Given the description of an element on the screen output the (x, y) to click on. 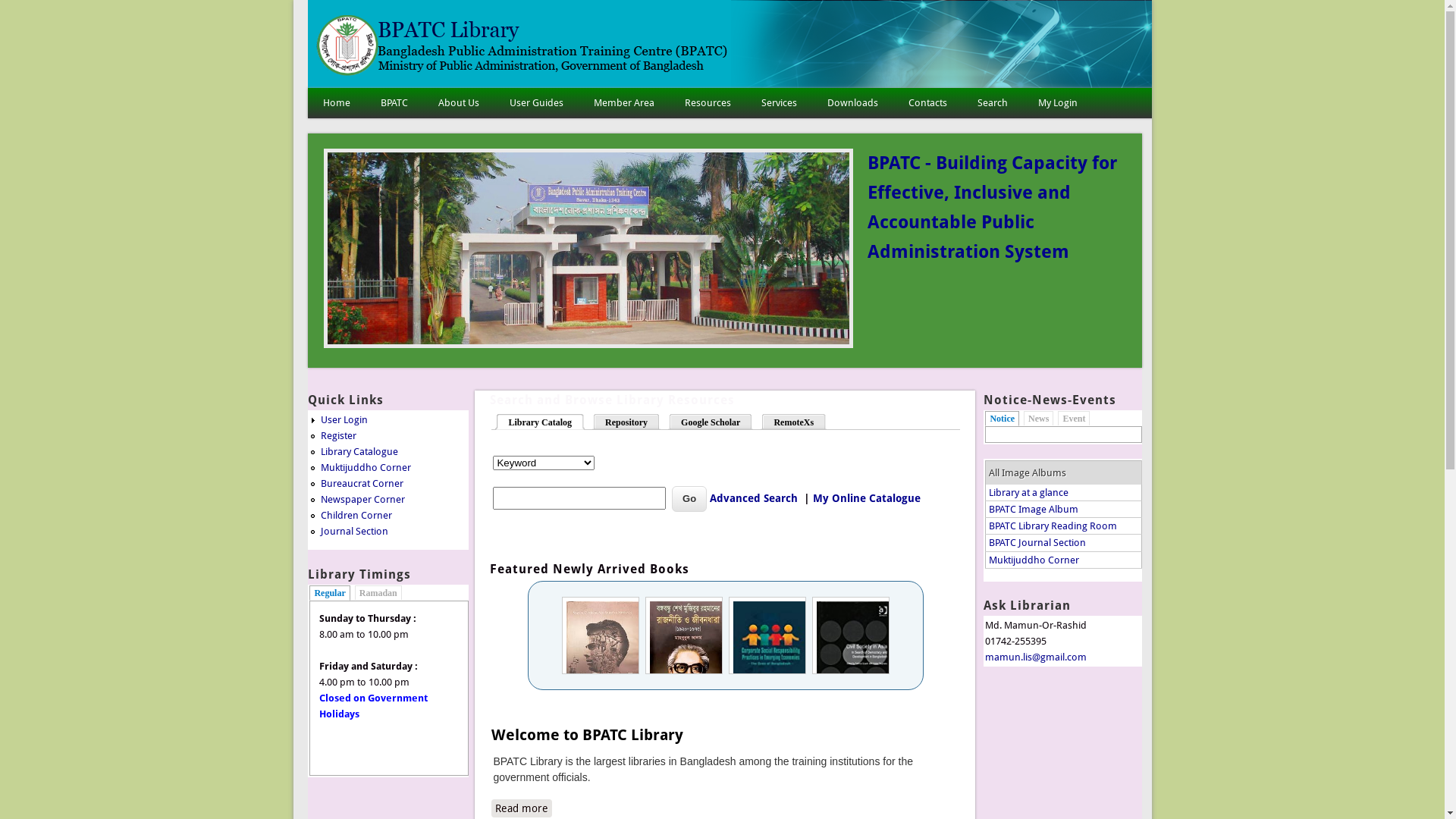
Muktijuddho Corner Element type: text (365, 467)
BPATC Journal Section Element type: text (1036, 542)
Muktijuddho Corner Element type: text (1033, 559)
Member Area Element type: text (623, 102)
mamun.lis@gmail.com Element type: text (1035, 656)
Repository Element type: text (628, 420)
RemoteXs Element type: text (795, 420)
Library at a glance Element type: text (1028, 492)
Downloads Element type: text (852, 102)
Library Catalogue Element type: text (359, 451)
Resources Element type: text (707, 102)
Services Element type: text (779, 102)
Journal Section Element type: text (354, 530)
Search Element type: text (992, 102)
Read more
about Welcome to BPATC Library Element type: text (521, 808)
About Us Element type: text (458, 102)
Newspaper Corner Element type: text (362, 499)
Regular Element type: text (329, 592)
Register Element type: text (338, 435)
Notice Element type: text (1001, 418)
Contacts Element type: text (927, 102)
Children Corner Element type: text (356, 514)
Google Scholar Element type: text (712, 420)
Home Element type: hover (523, 72)
User Login Element type: text (343, 419)
Home Element type: text (336, 102)
BPATC Element type: text (394, 102)
My Online Catalogue Element type: text (866, 498)
Library Catalog Element type: text (541, 420)
Go Element type: text (688, 498)
Ramadan Element type: text (378, 592)
News Element type: text (1038, 418)
Event Element type: text (1073, 418)
Welcome to BPATC Library Element type: text (587, 734)
My Login Element type: text (1057, 102)
Bureaucrat Corner Element type: text (361, 483)
BPATC Library Reading Room Element type: text (1052, 525)
User Guides Element type: text (536, 102)
Advanced Search Element type: text (751, 498)
BPATC Image Album Element type: text (1033, 508)
